Given the description of an element on the screen output the (x, y) to click on. 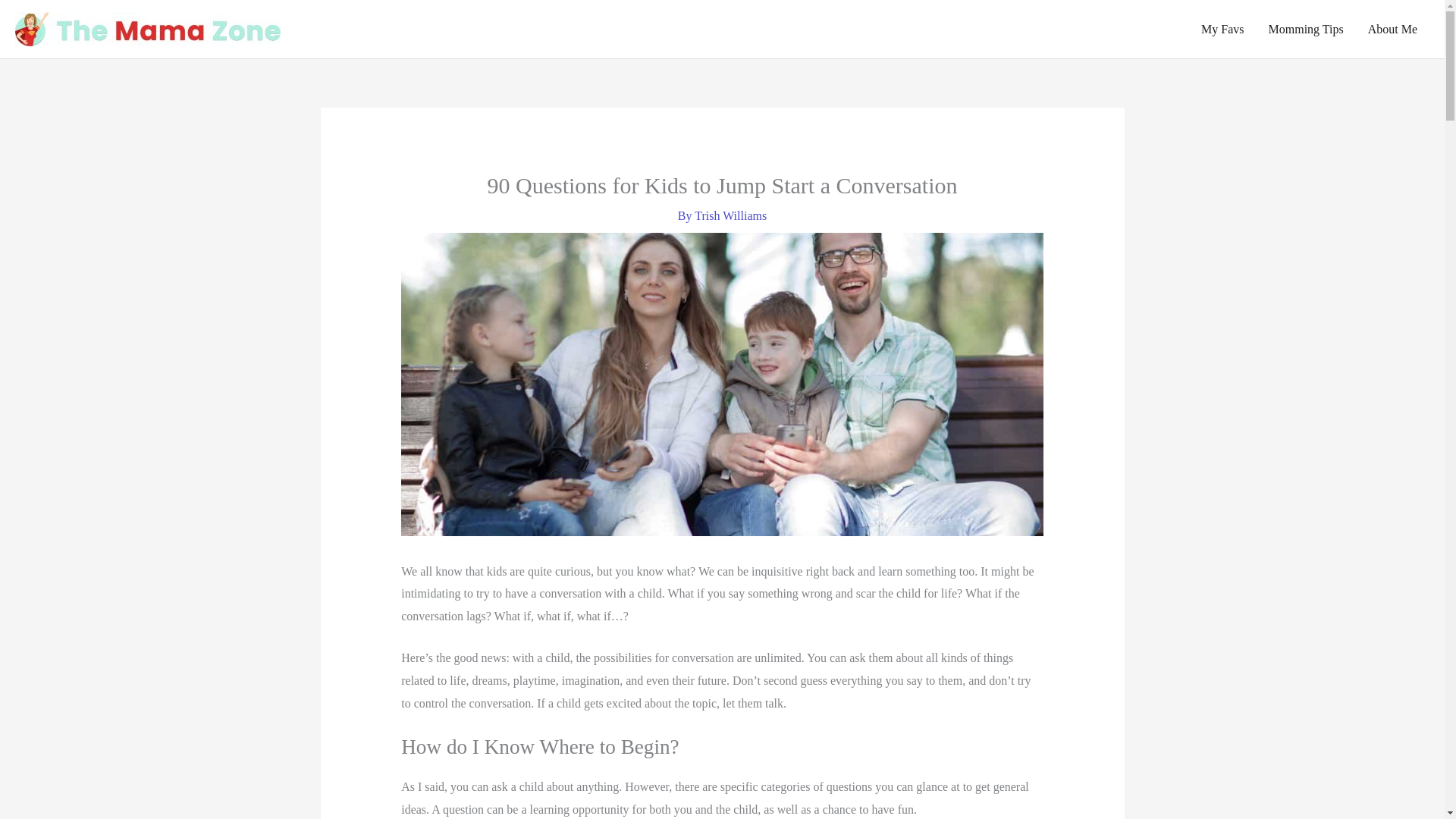
View all posts by Trish Williams (730, 215)
Trish Williams (730, 215)
Momming Tips (1305, 28)
My Favs (1222, 28)
About Me (1392, 28)
